Given the description of an element on the screen output the (x, y) to click on. 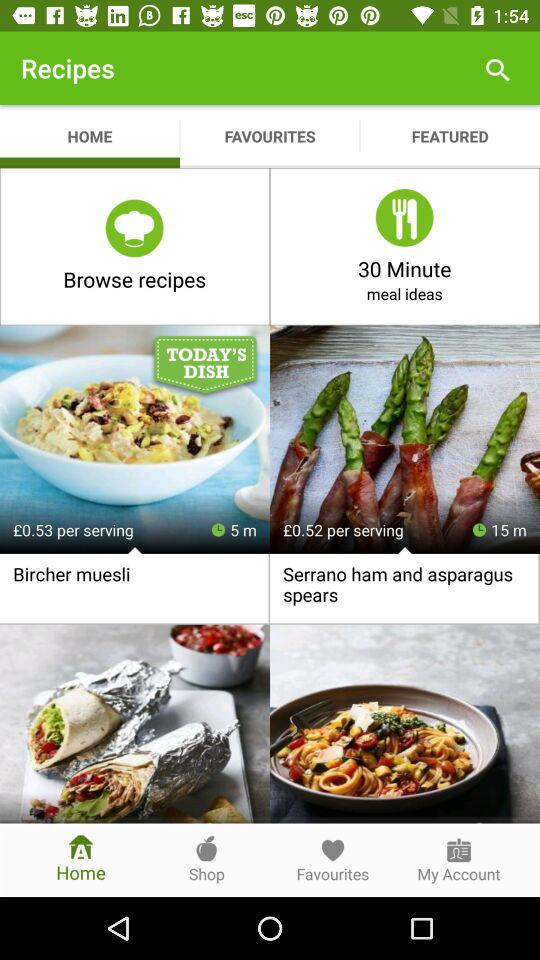
tap icon above featured app (497, 67)
